Given the description of an element on the screen output the (x, y) to click on. 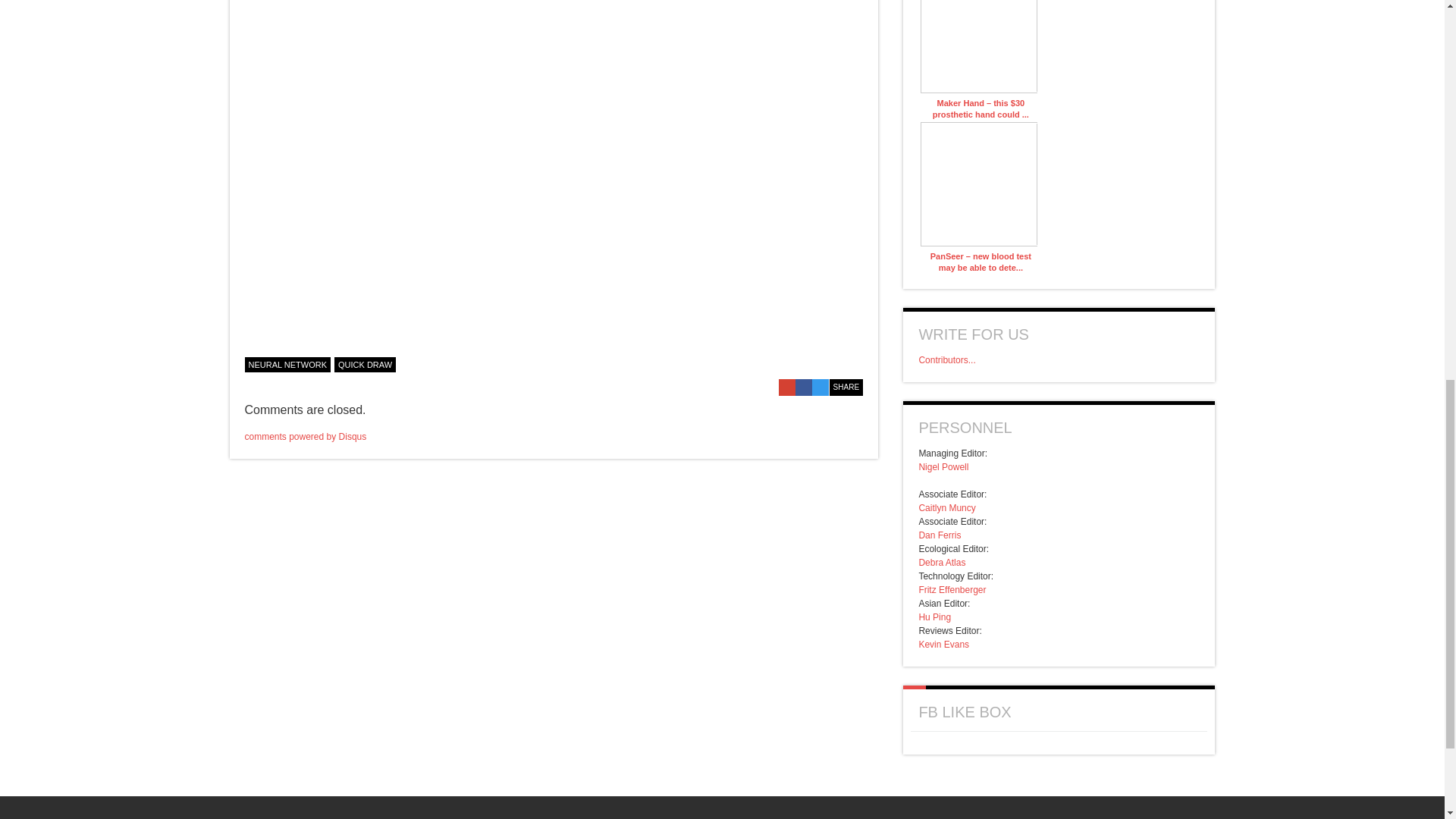
QUICK DRAW (365, 364)
Nigel Powell (943, 466)
I like this article (855, 362)
Caitlyn Muncy (946, 507)
SHARE (846, 387)
Fritz Effenberger (951, 589)
NEURAL NETWORK (287, 364)
Dan Ferris (939, 534)
comments powered by Disqus (305, 436)
Hu Ping (934, 616)
Kevin Evans (943, 644)
Contributors... (946, 359)
Debra Atlas (941, 562)
